Given the description of an element on the screen output the (x, y) to click on. 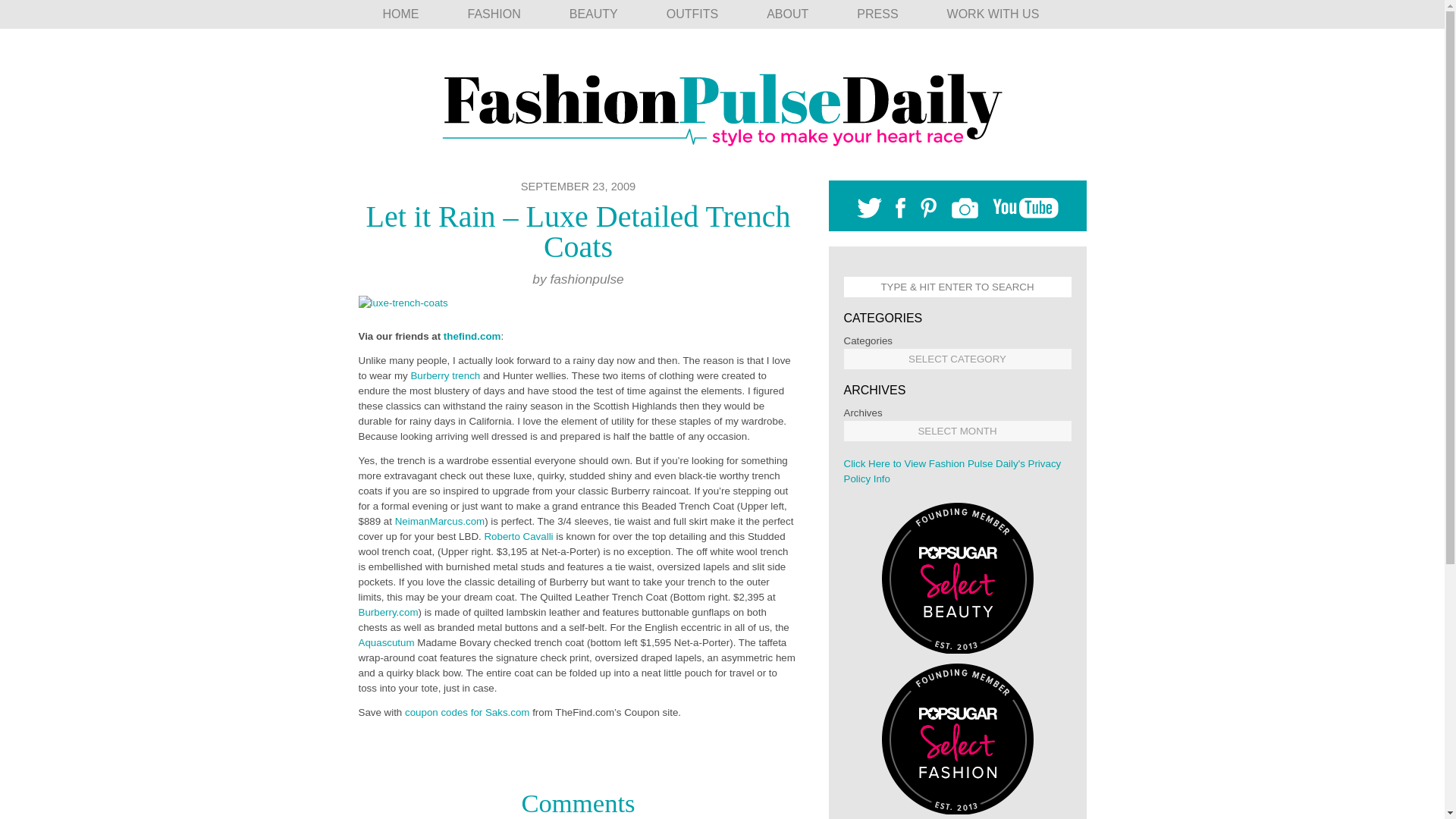
coupon codes for Saks.com (466, 712)
Burberry.com (387, 612)
Click Here to View Fashion Pulse Daily's Privacy Policy Info (952, 470)
PRESS (877, 13)
Aquascutum (385, 642)
luxe-trench-coats (402, 303)
HOME (400, 13)
thefind.com (470, 336)
fashionpulse (586, 278)
FASHION (493, 13)
OUTFITS (691, 13)
Burberry trench (445, 375)
Fashion Pulse Daily (722, 104)
ABOUT (787, 13)
NeimanMarcus.com (439, 521)
